Given the description of an element on the screen output the (x, y) to click on. 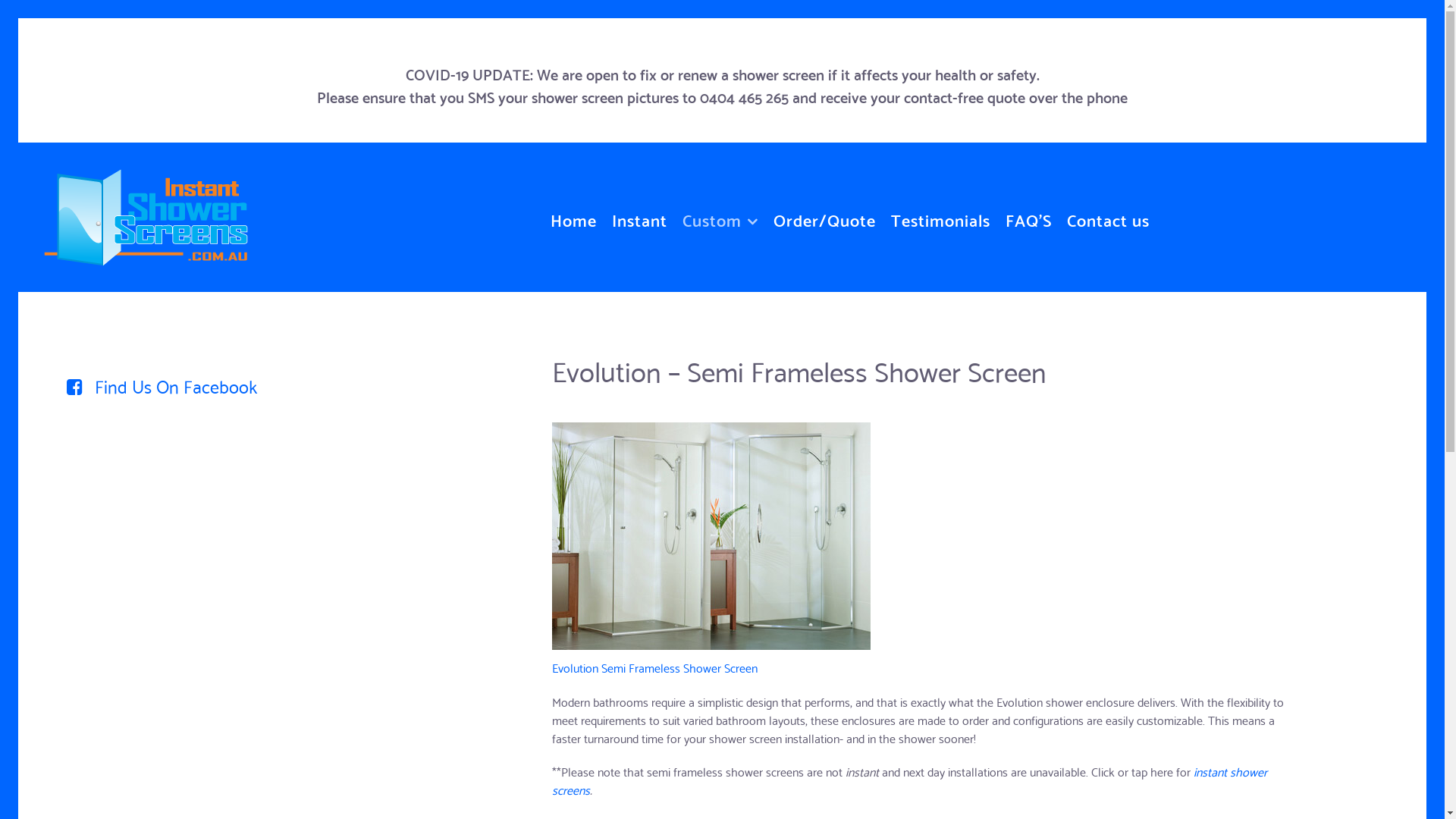
Order/Quote Element type: text (824, 216)
Flux Element type: hover (145, 208)
instant shower screens Element type: text (909, 779)
Custom Element type: text (720, 216)
FAQ'S Element type: text (1028, 216)
Find Us On Facebook Element type: text (150, 385)
Contact us Element type: text (1107, 216)
Testimonials Element type: text (940, 216)
Evolution Semi Frameless Shower Screen Element type: text (654, 666)
Instant Element type: text (639, 216)
Home Element type: text (573, 216)
